Given the description of an element on the screen output the (x, y) to click on. 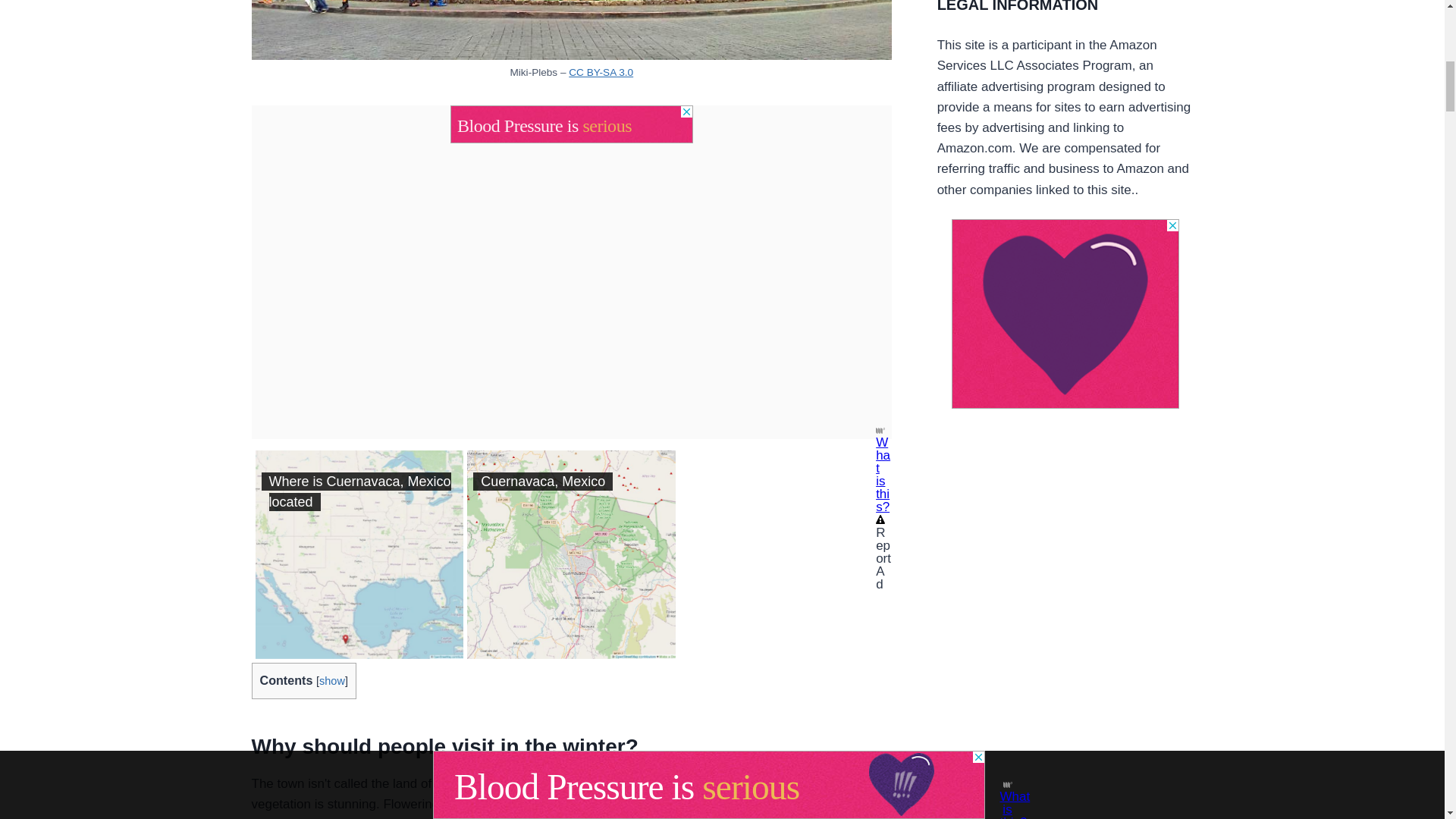
3rd party ad content (1065, 313)
3rd party ad content (571, 124)
show (331, 680)
CC BY-SA 3.0 (601, 71)
